Given the description of an element on the screen output the (x, y) to click on. 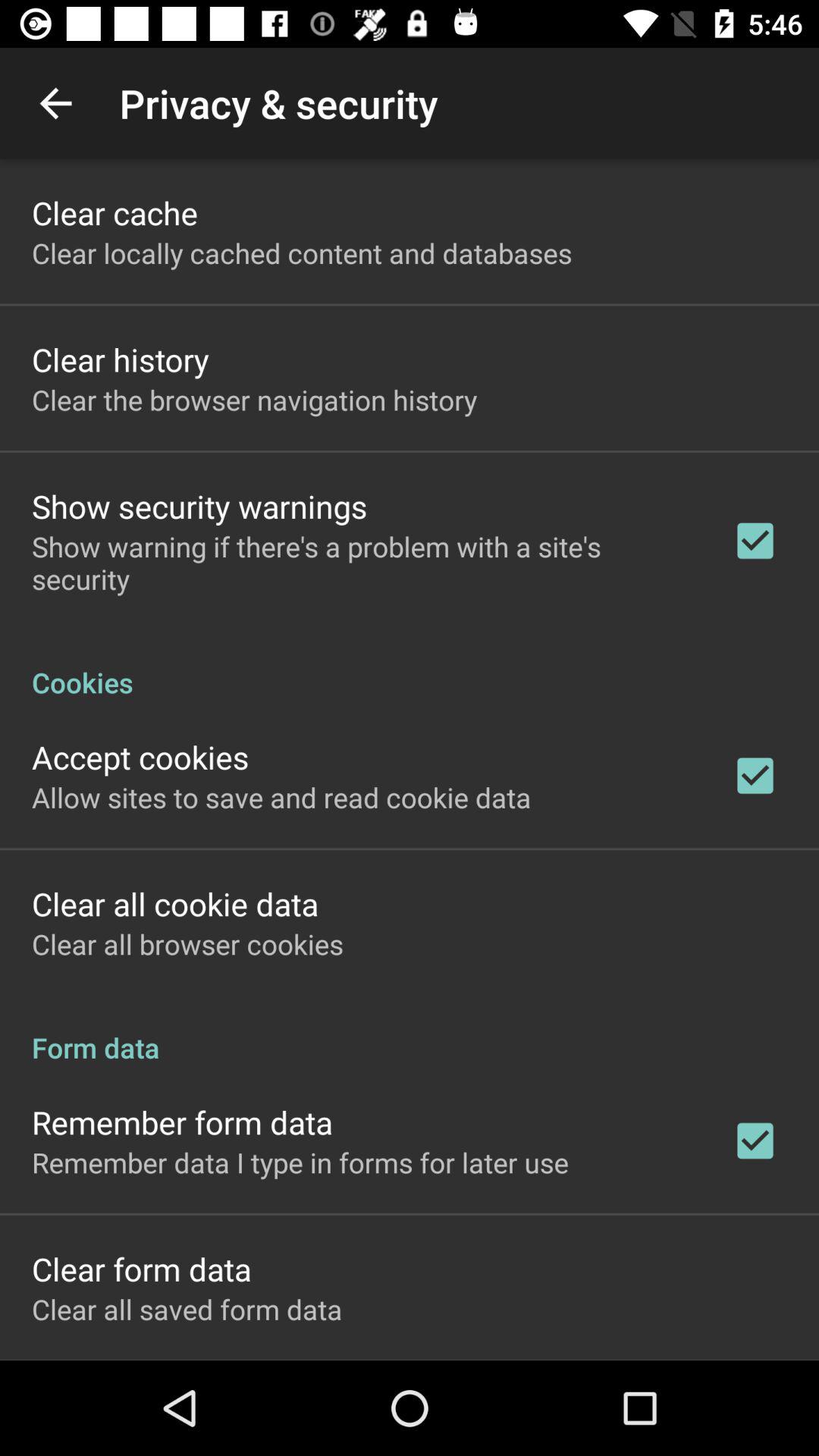
choose the app below the accept cookies item (281, 797)
